Given the description of an element on the screen output the (x, y) to click on. 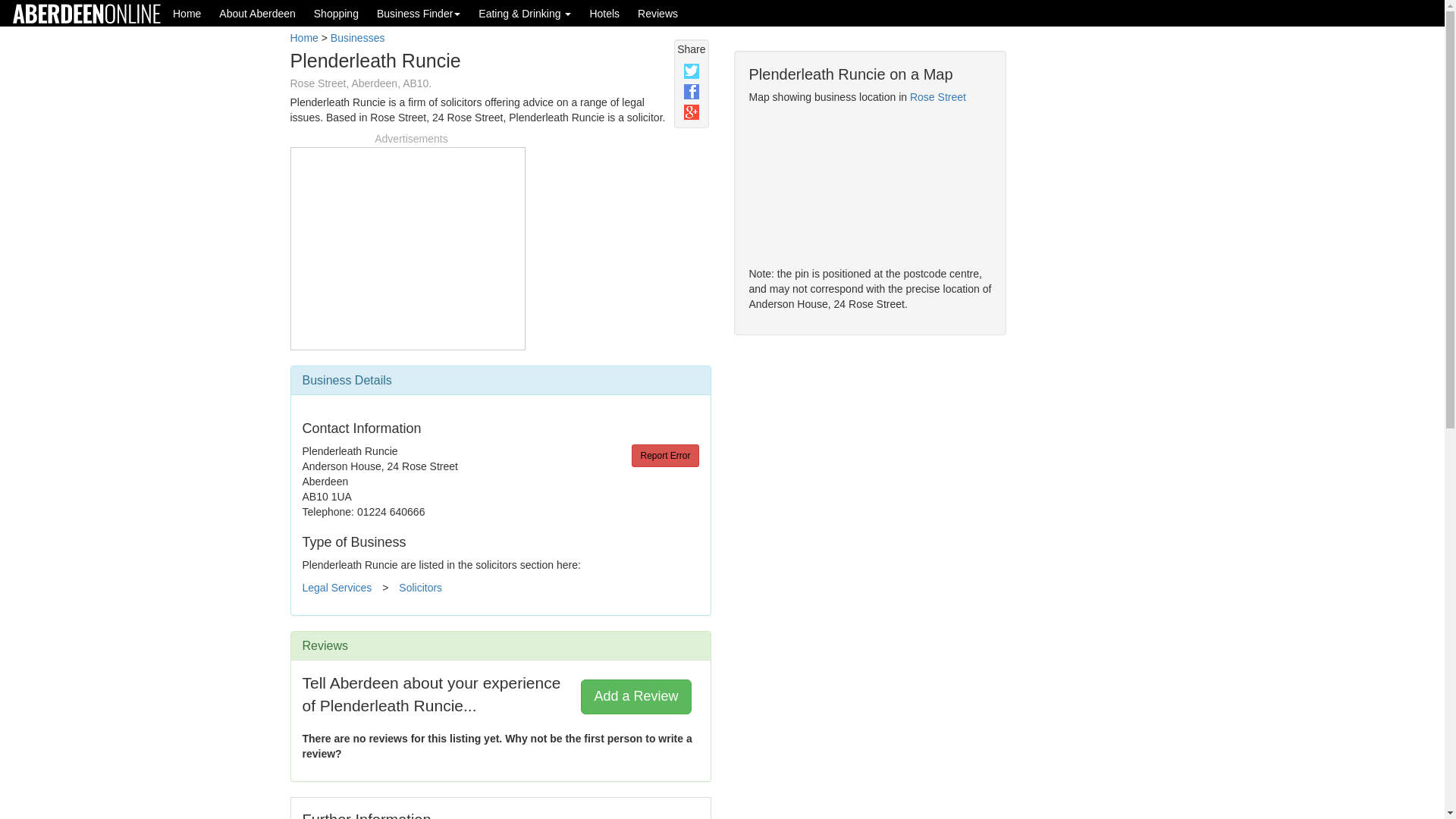
Home (186, 12)
Advertisement (407, 246)
Rose Street (938, 96)
About Aberdeen (256, 12)
Hotels (603, 12)
Businesses (357, 37)
Add a Review (635, 696)
Reviews (657, 12)
Report Error (664, 455)
Solicitors (420, 587)
Shopping (336, 12)
Business Finder (418, 12)
Home (303, 37)
Legal Services (336, 587)
Report Error (664, 455)
